Given the description of an element on the screen output the (x, y) to click on. 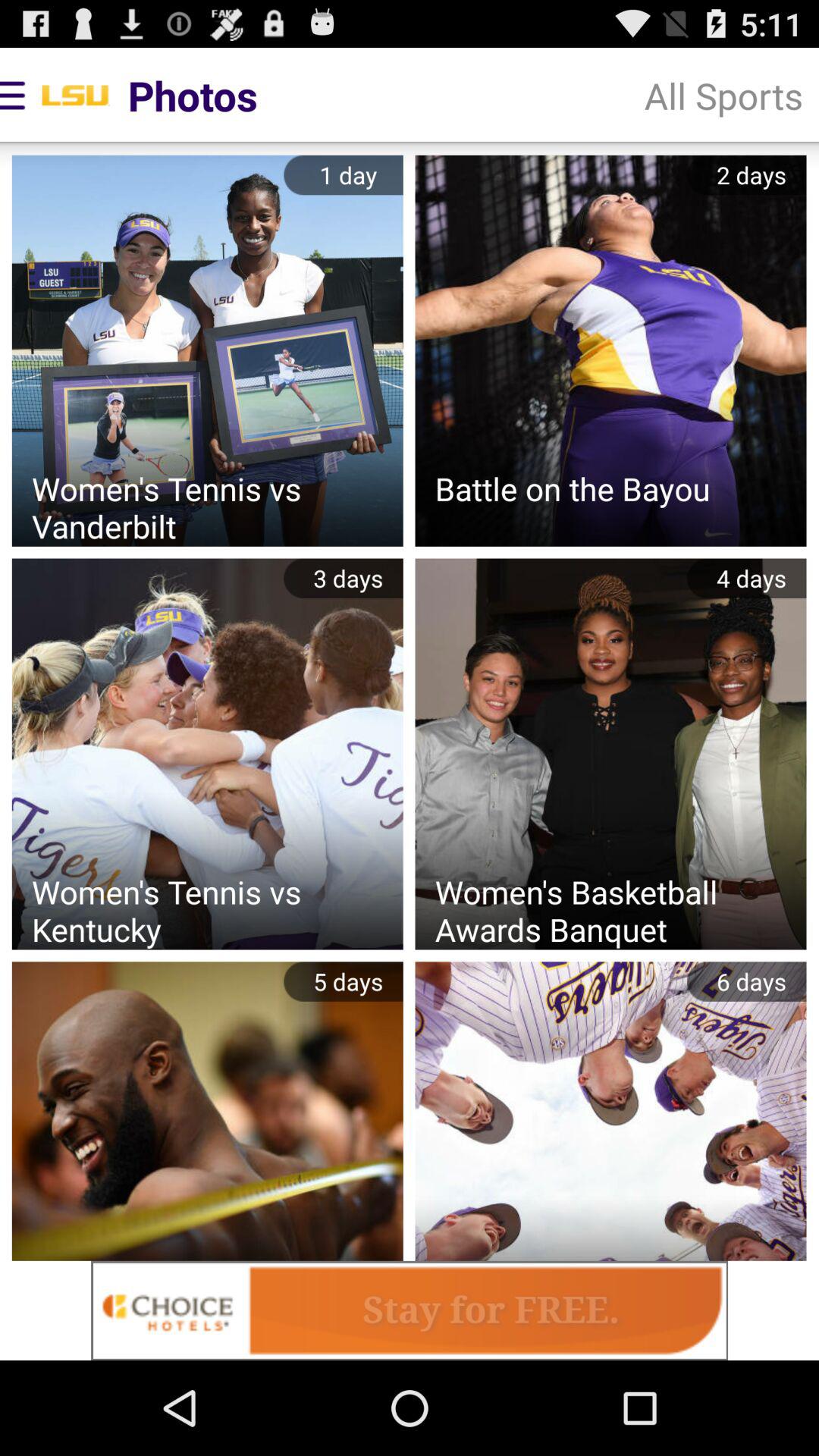
advertisement page (409, 1310)
